Given the description of an element on the screen output the (x, y) to click on. 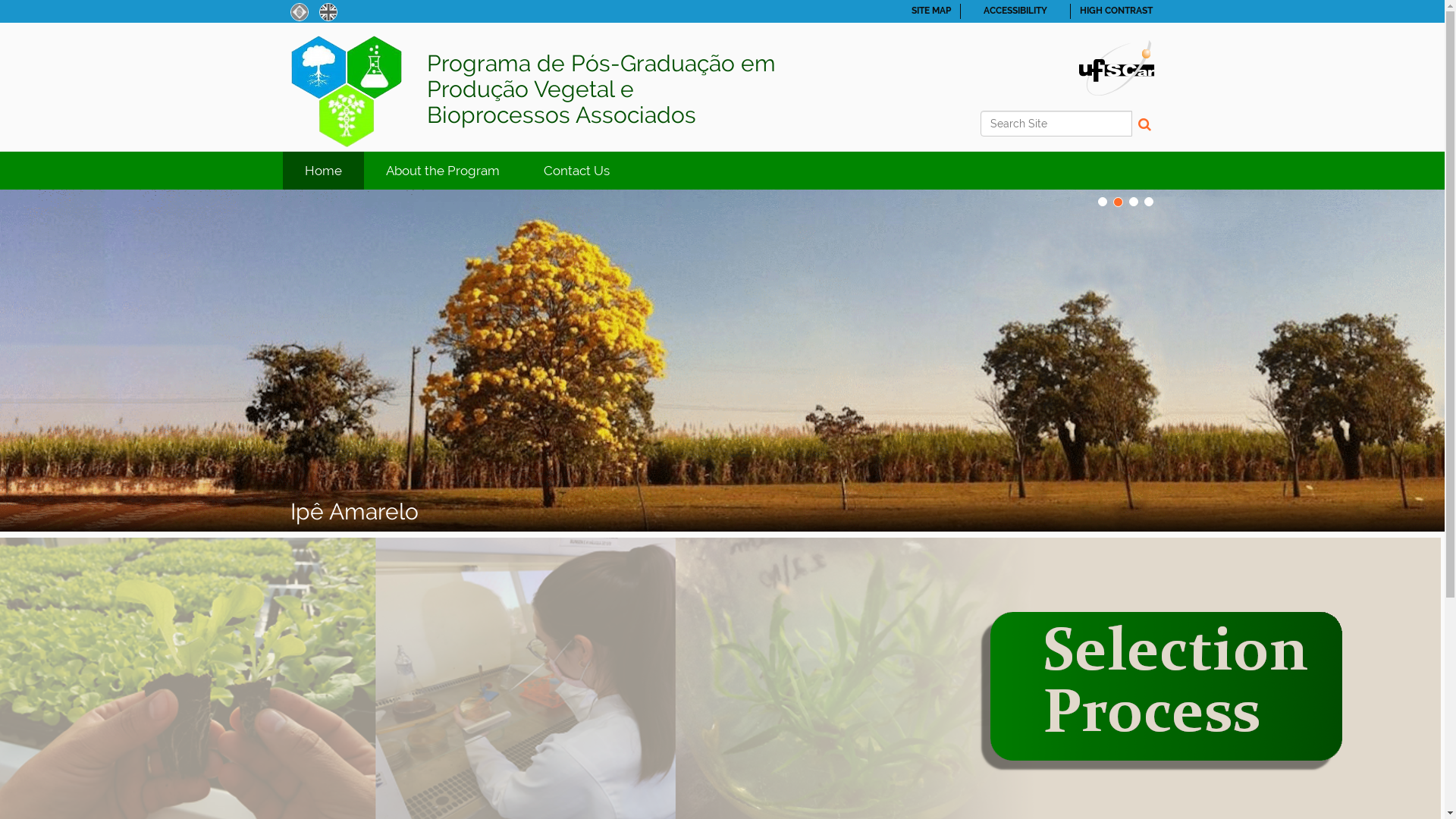
ACCESSIBILITY Element type: text (1014, 10)
HIGH CONTRAST Element type: text (1115, 10)
SITE MAP Element type: text (930, 10)
English Element type: hover (327, 10)
Home Element type: text (322, 170)
Portal UFSCar Element type: hover (1116, 66)
Search Site Element type: hover (1055, 123)
English Element type: hover (327, 12)
About the Program Element type: text (442, 170)
Contact Us Element type: text (576, 170)
